Given the description of an element on the screen output the (x, y) to click on. 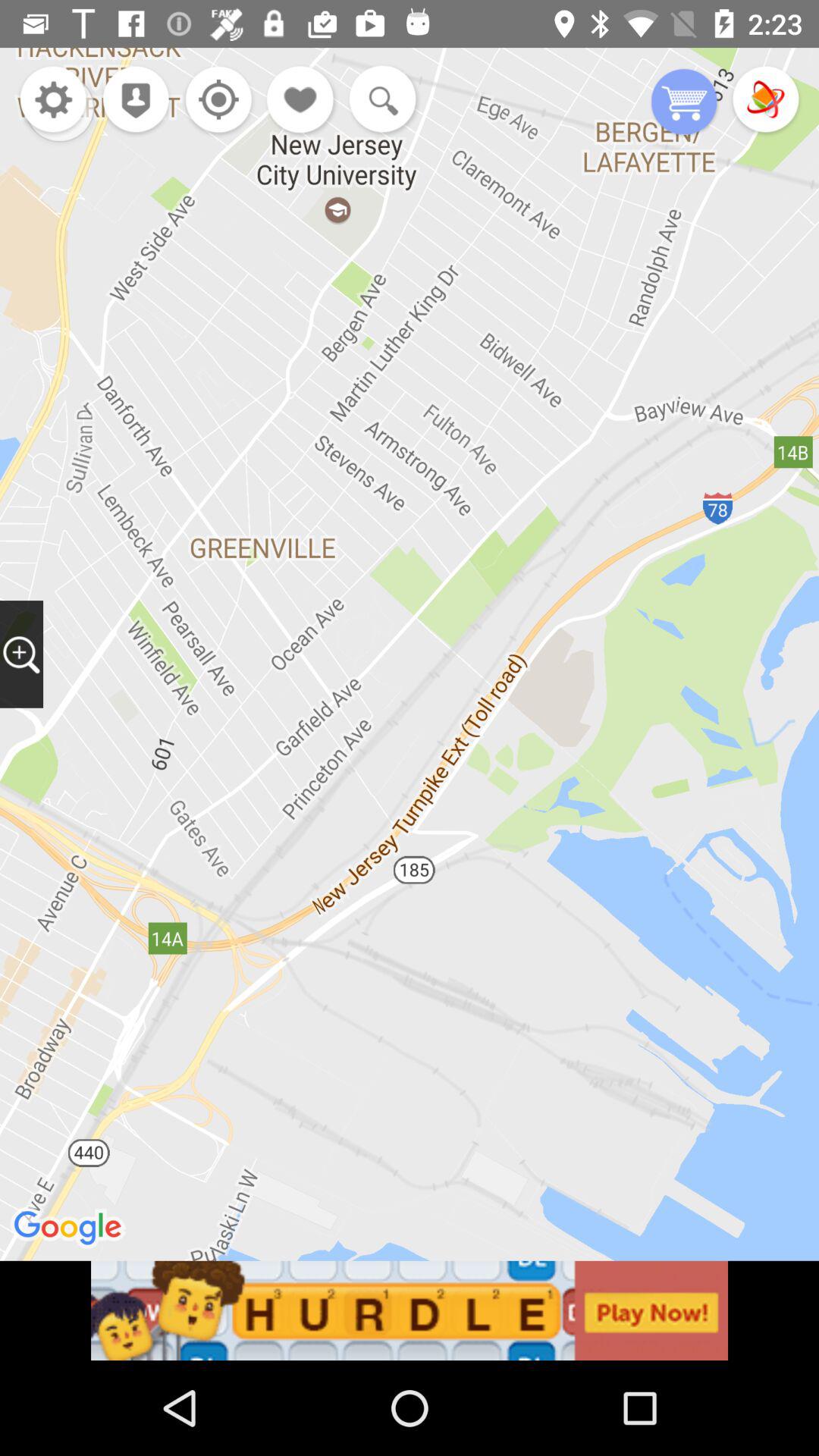
go to settings (52, 100)
